Given the description of an element on the screen output the (x, y) to click on. 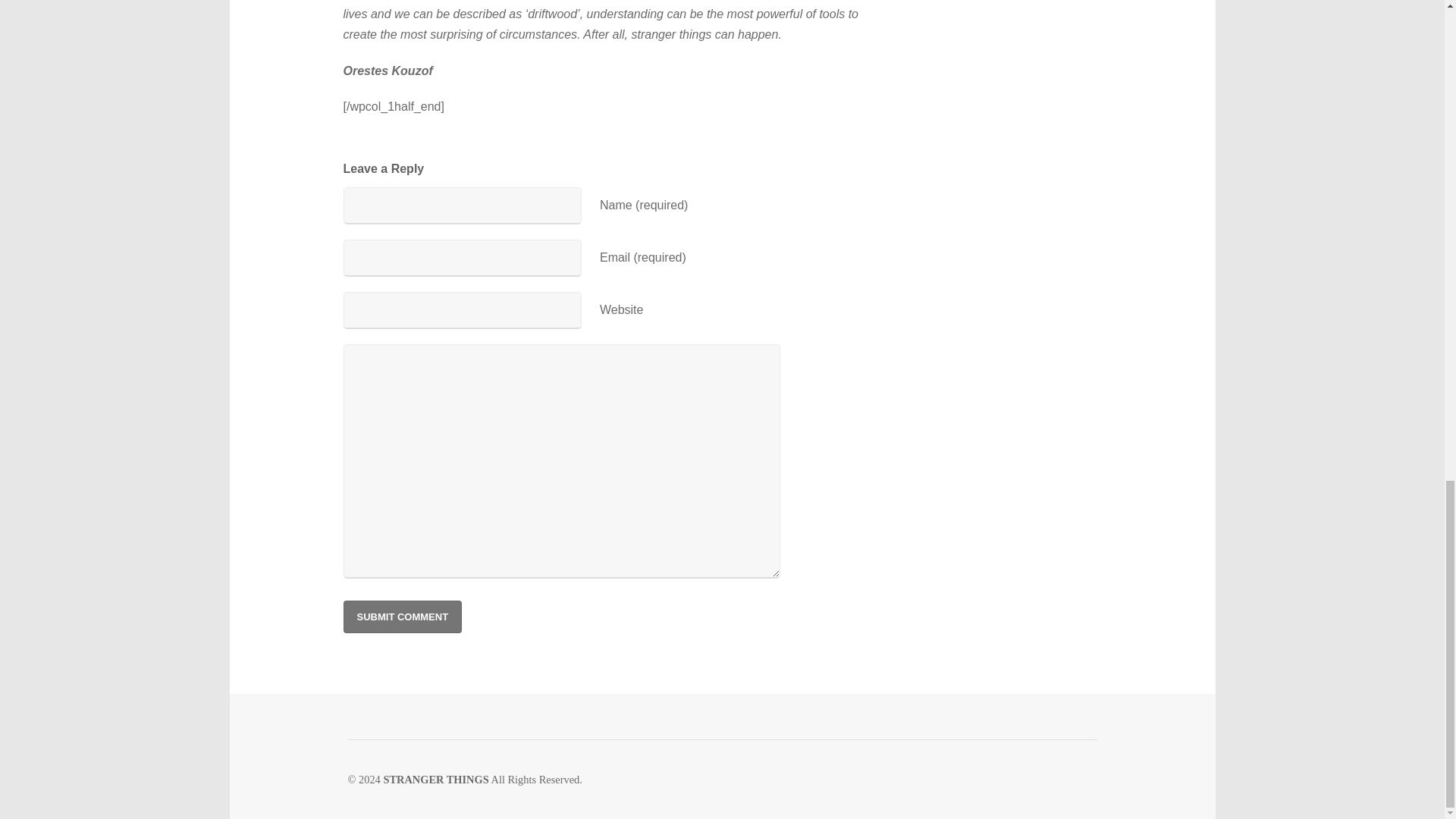
STRANGER THINGS (434, 779)
Submit Comment (401, 616)
Submit Comment (401, 616)
